Given the description of an element on the screen output the (x, y) to click on. 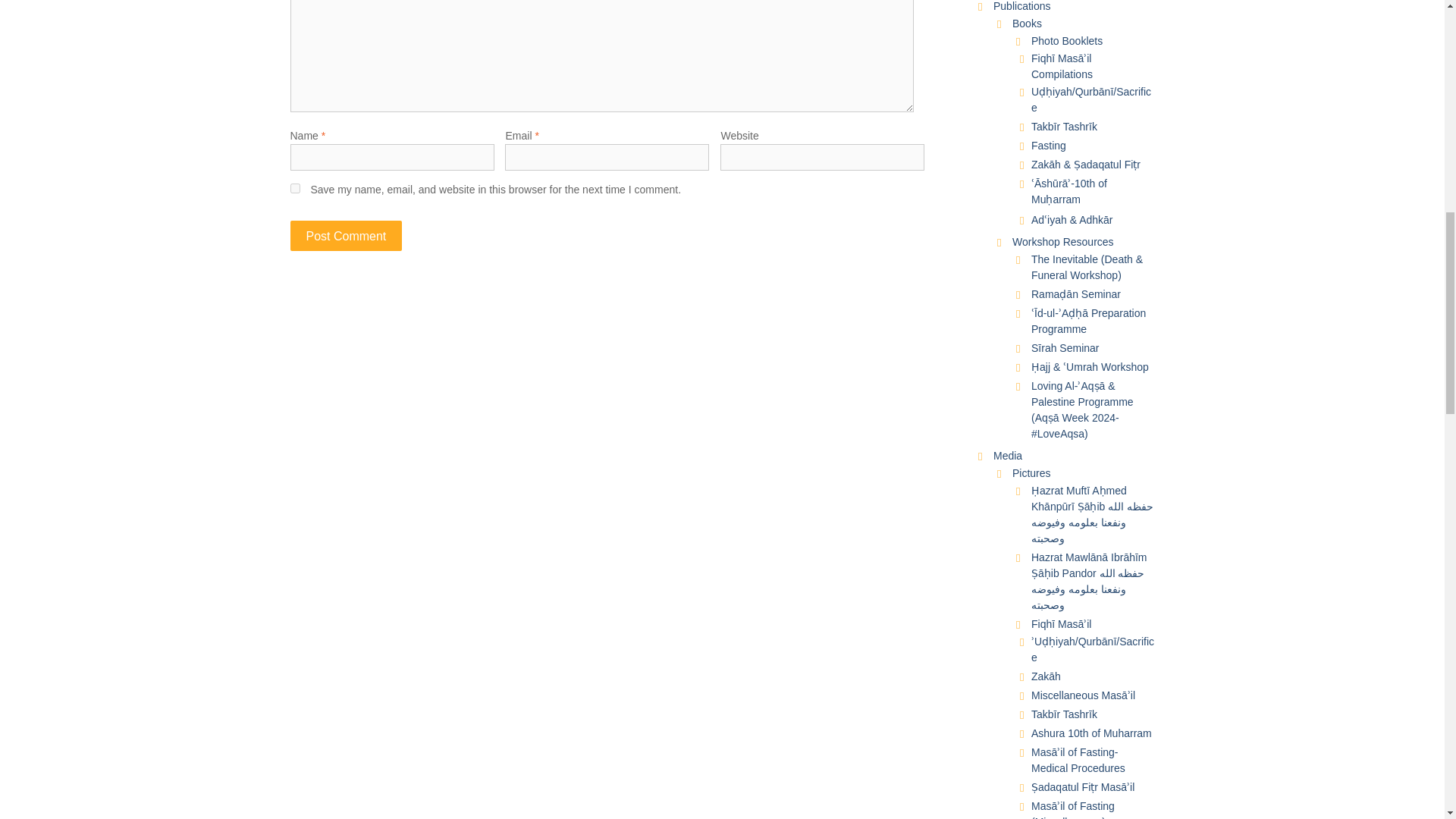
yes (294, 188)
Post Comment (345, 235)
